Given the description of an element on the screen output the (x, y) to click on. 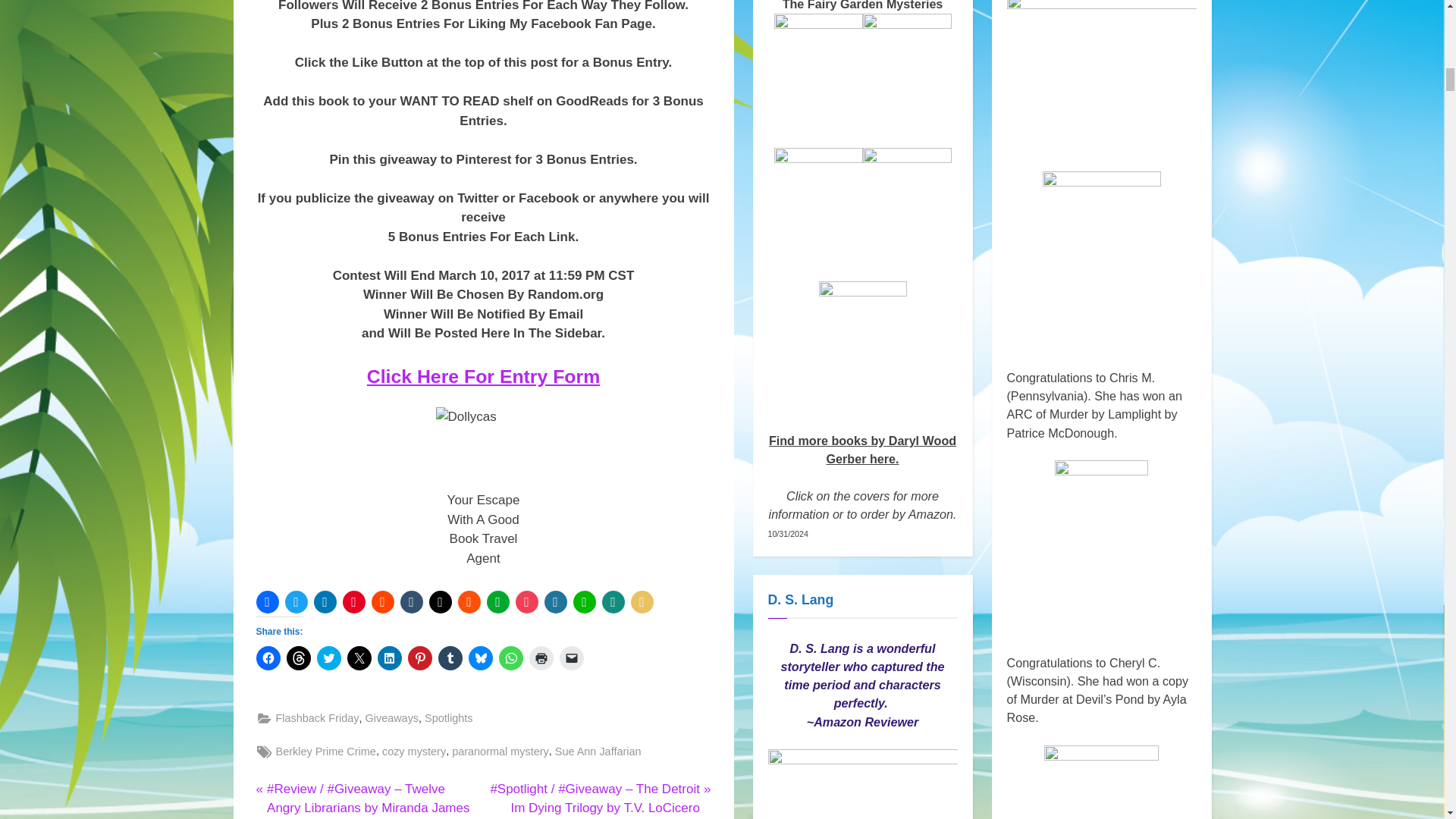
Click to share on Twitter (328, 658)
Click to share on LinkedIn (389, 658)
Click to share on Pinterest (419, 658)
Click to share on Threads (298, 658)
Click to email a link to a friend (571, 658)
Click to print (541, 658)
Click to share on WhatsApp (510, 658)
Click to share on Bluesky (480, 658)
Click to share on Facebook (268, 658)
Click to share on X (359, 658)
Click to share on Tumblr (450, 658)
